Given the description of an element on the screen output the (x, y) to click on. 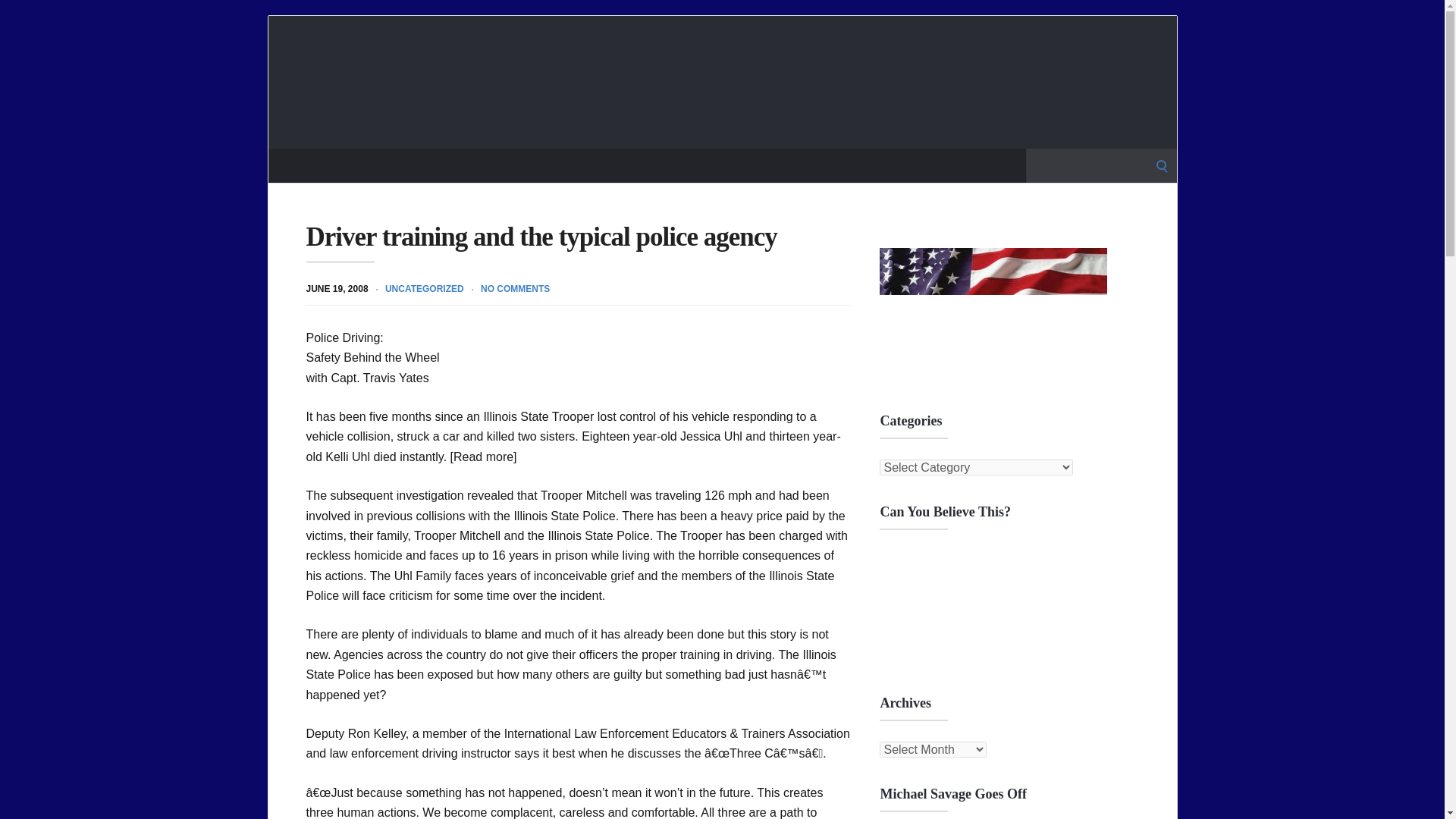
NO COMMENTS (515, 288)
Search (16, 17)
UNCATEGORIZED (424, 288)
American-Flag (992, 323)
Cops Sound Off (721, 81)
